Given the description of an element on the screen output the (x, y) to click on. 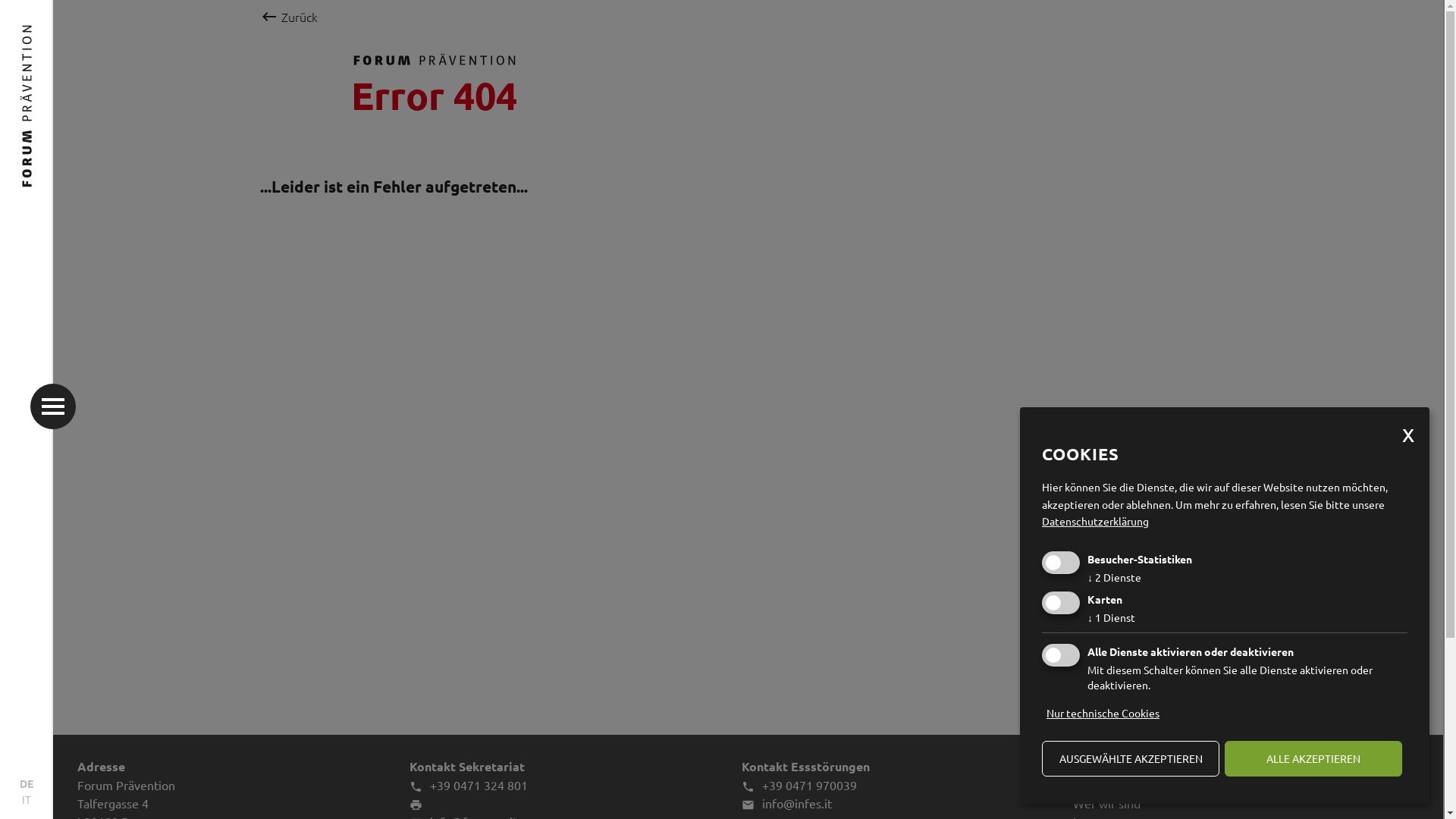
DE Element type: text (26, 783)
IT Element type: text (26, 799)
Nur technische Cookies Element type: text (1102, 712)
ALLE AKZEPTIEREN Element type: text (1313, 758)
Wer wir sind Element type: text (1106, 802)
